Given the description of an element on the screen output the (x, y) to click on. 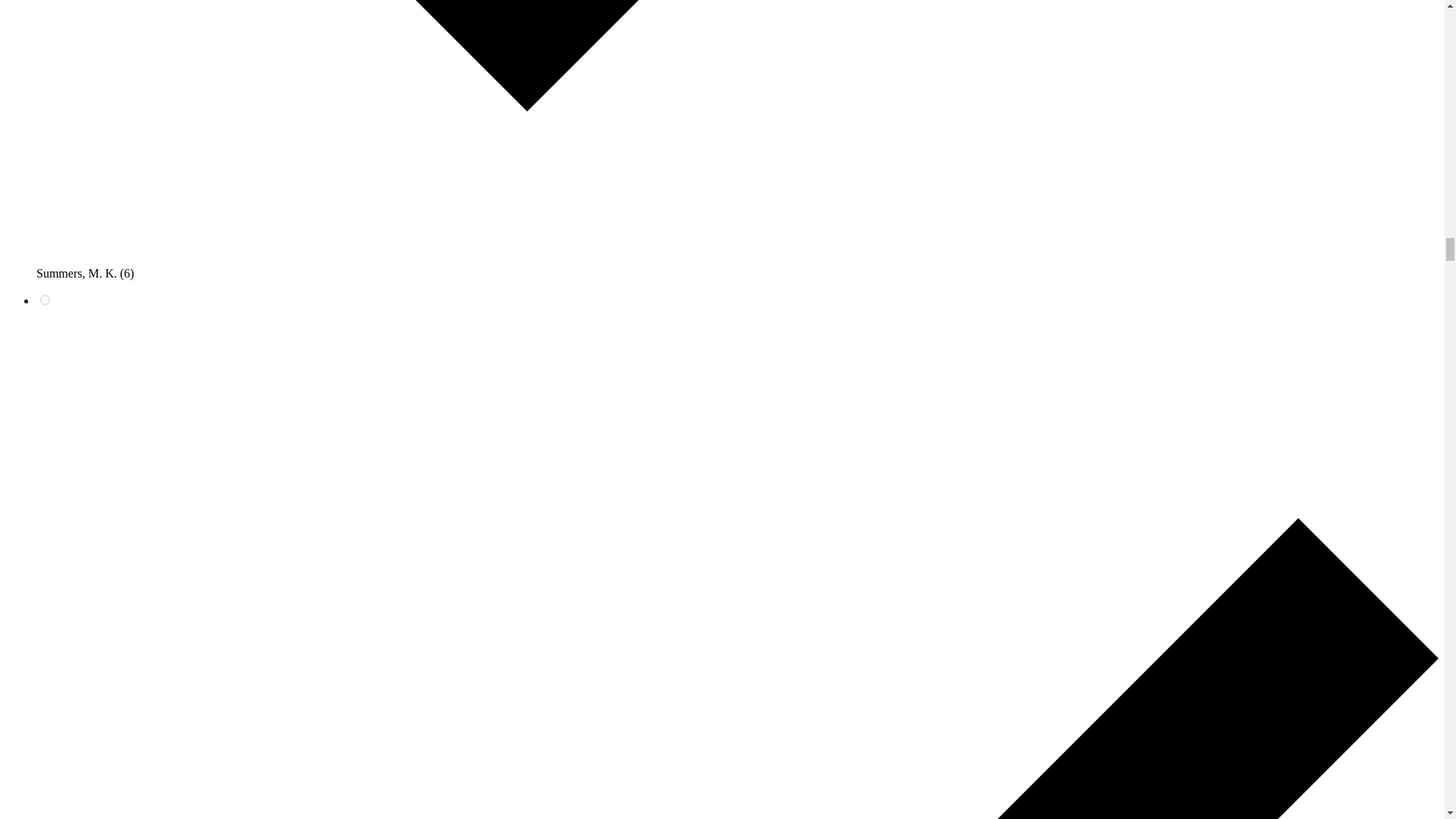
Willett, J. B. (44, 299)
